Given the description of an element on the screen output the (x, y) to click on. 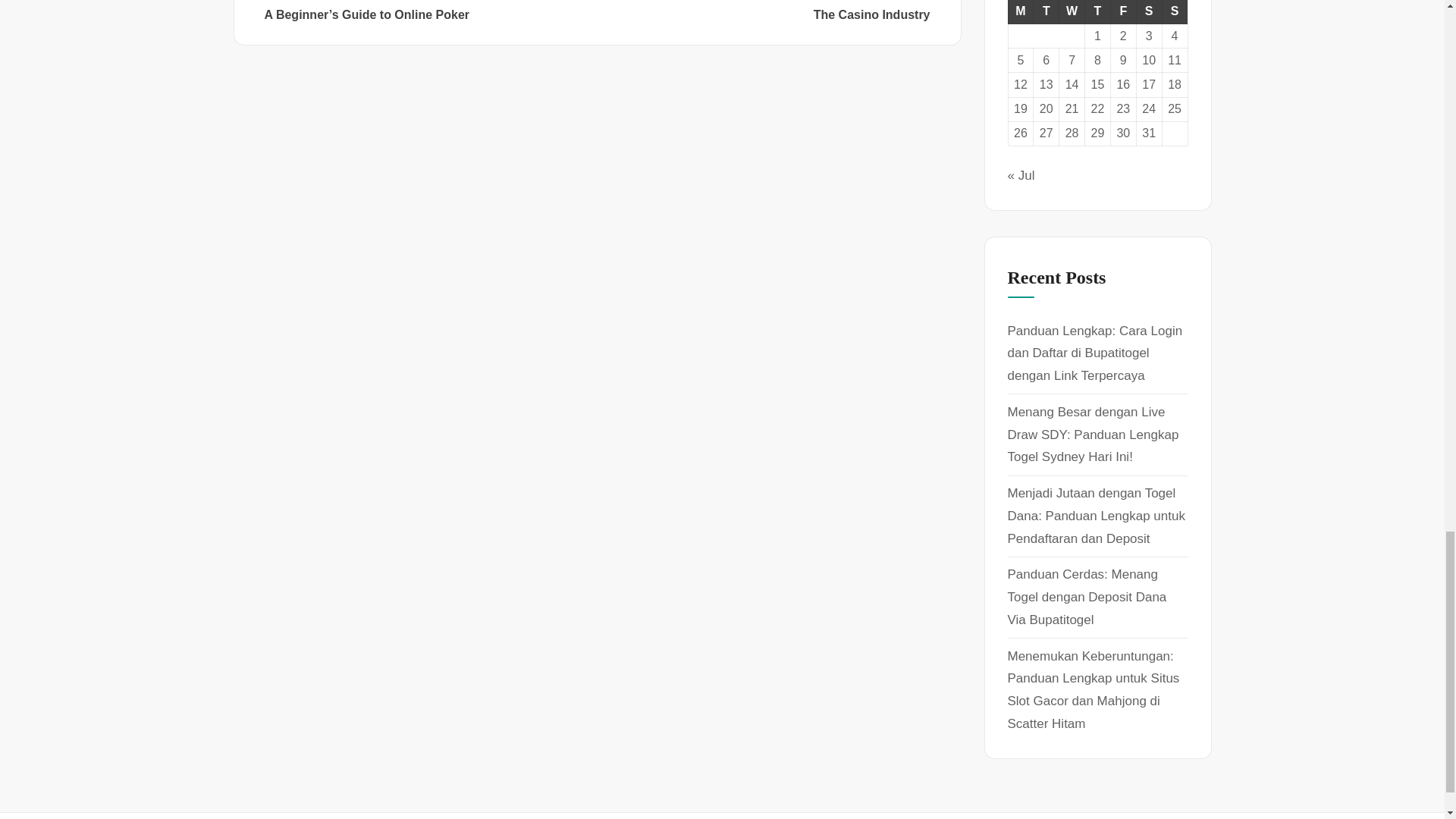
Friday (1122, 11)
Thursday (1097, 11)
Sunday (764, 11)
Saturday (1174, 11)
Wednesday (1148, 11)
Monday (1071, 11)
Tuesday (1020, 11)
